Given the description of an element on the screen output the (x, y) to click on. 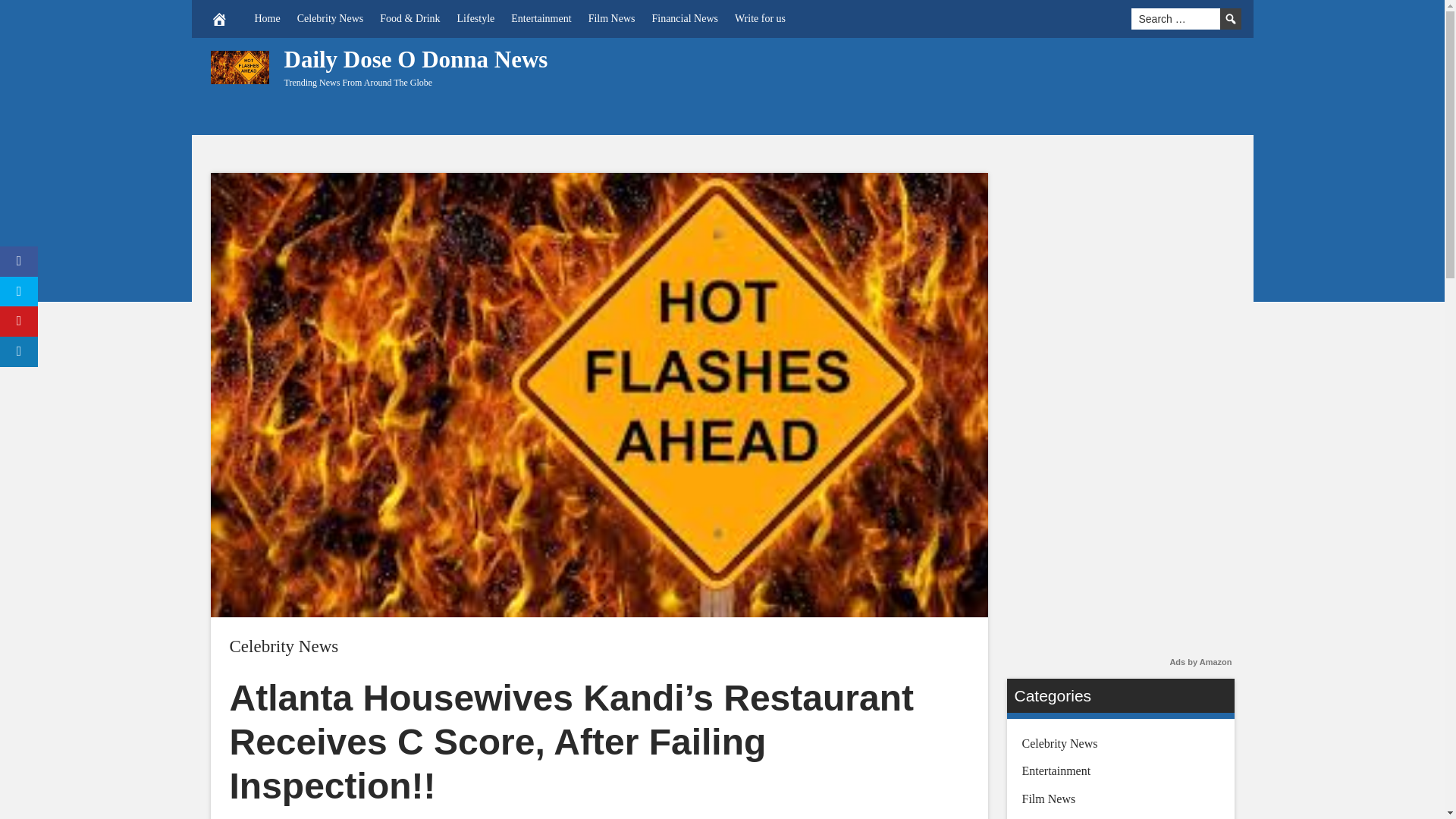
Home (267, 18)
Write for us (759, 18)
Financial News (684, 18)
Film News (611, 18)
Entertainment (540, 18)
Celebrity News (282, 646)
Lifestyle (475, 18)
Daily Dose O Donna News (415, 58)
Celebrity News (282, 646)
Celebrity News (329, 18)
